Given the description of an element on the screen output the (x, y) to click on. 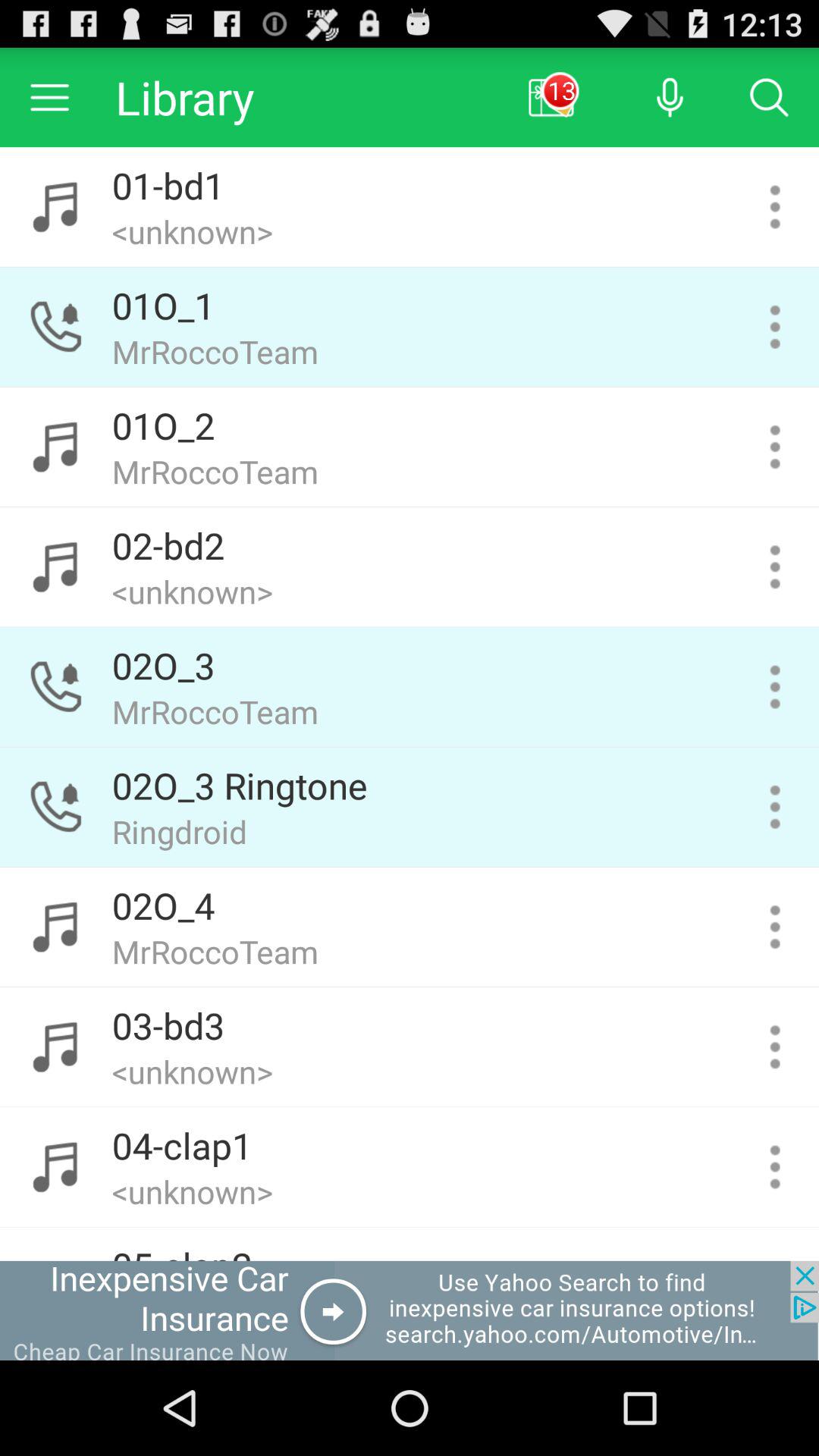
file options (775, 206)
